Given the description of an element on the screen output the (x, y) to click on. 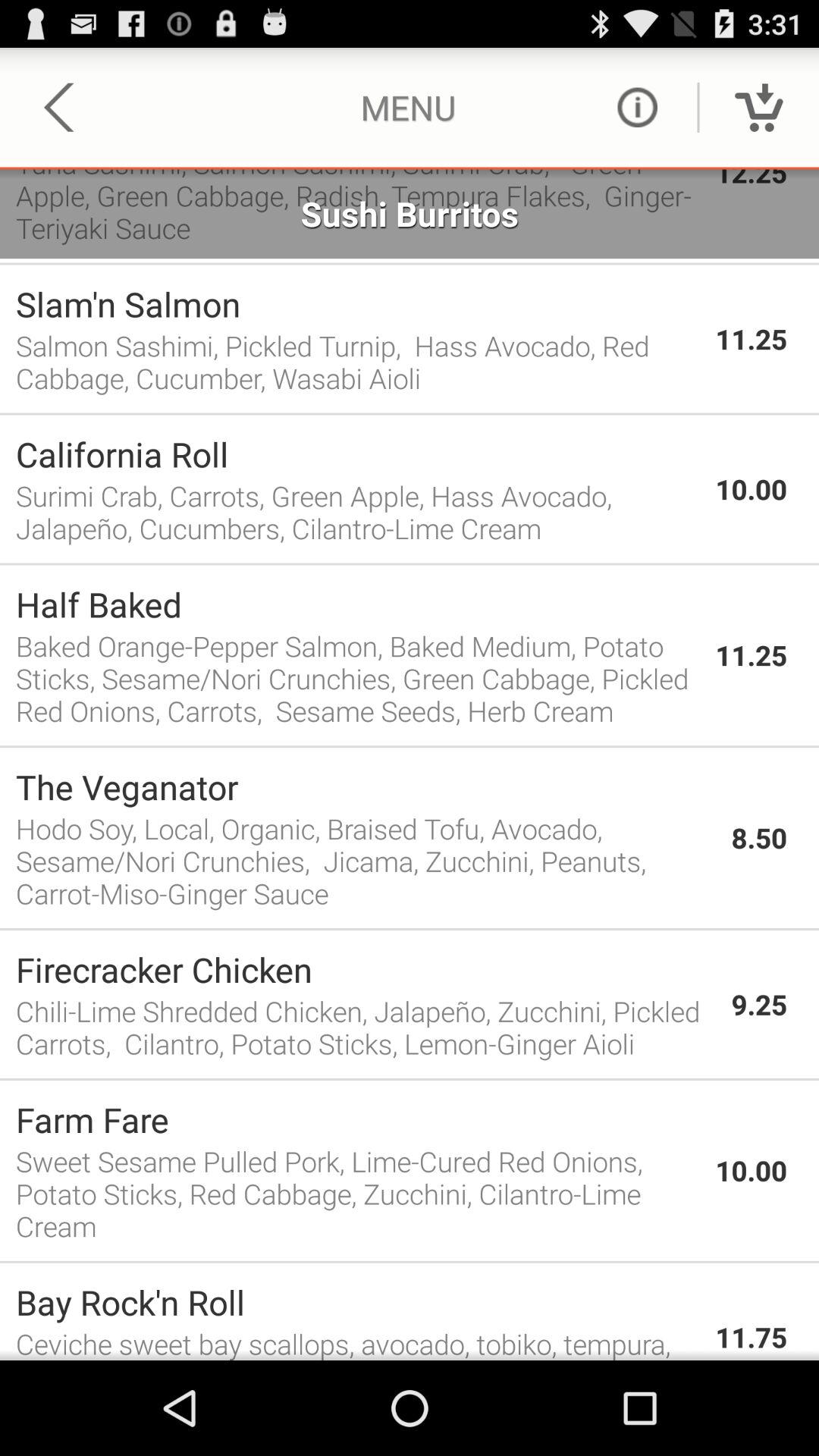
turn on the item next to 8.50 app (365, 860)
